Given the description of an element on the screen output the (x, y) to click on. 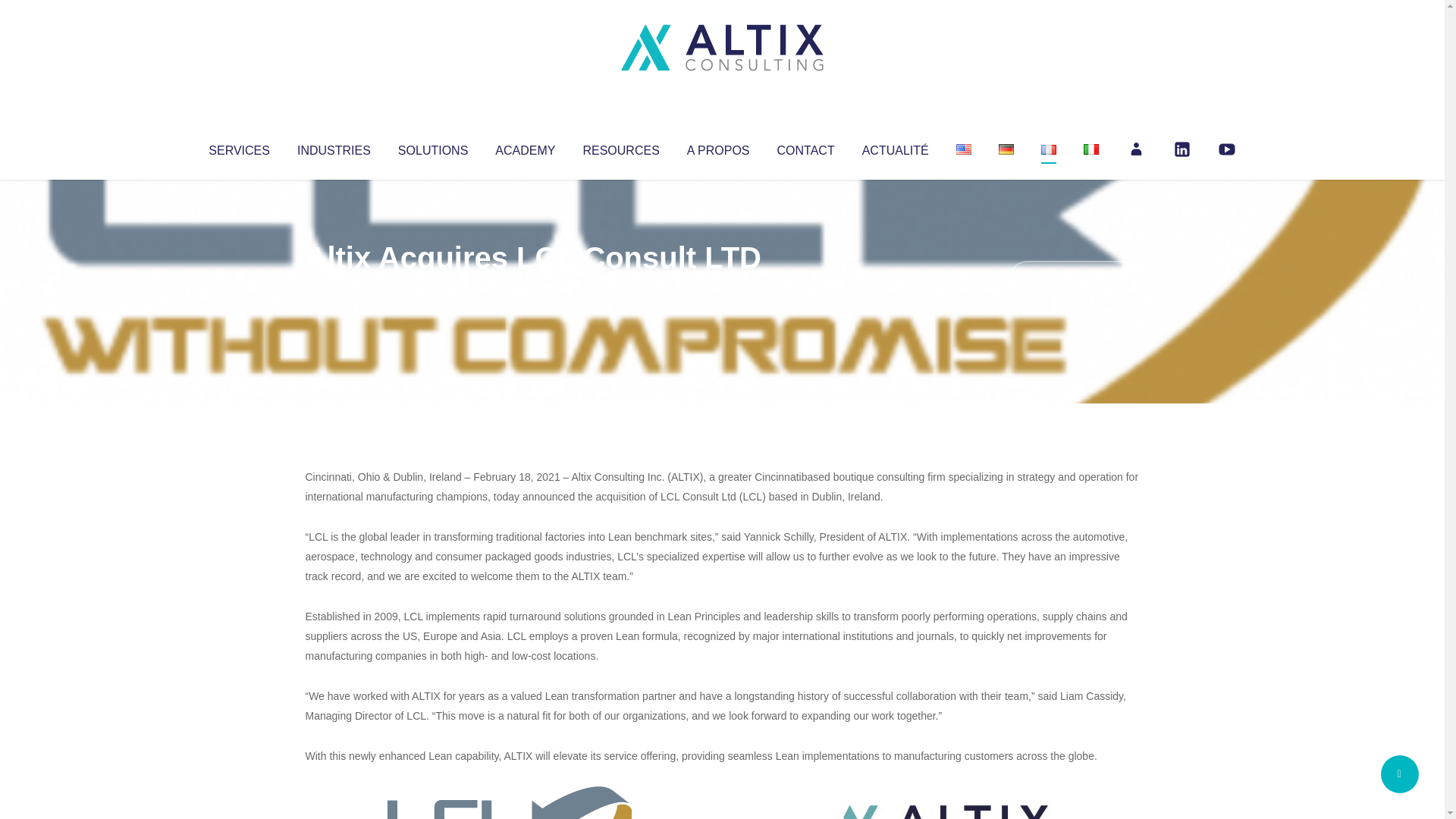
Articles par Altix (333, 287)
Altix (333, 287)
RESOURCES (620, 146)
SERVICES (238, 146)
Uncategorized (530, 287)
SOLUTIONS (432, 146)
A PROPOS (718, 146)
ACADEMY (524, 146)
No Comments (1073, 278)
INDUSTRIES (334, 146)
